Given the description of an element on the screen output the (x, y) to click on. 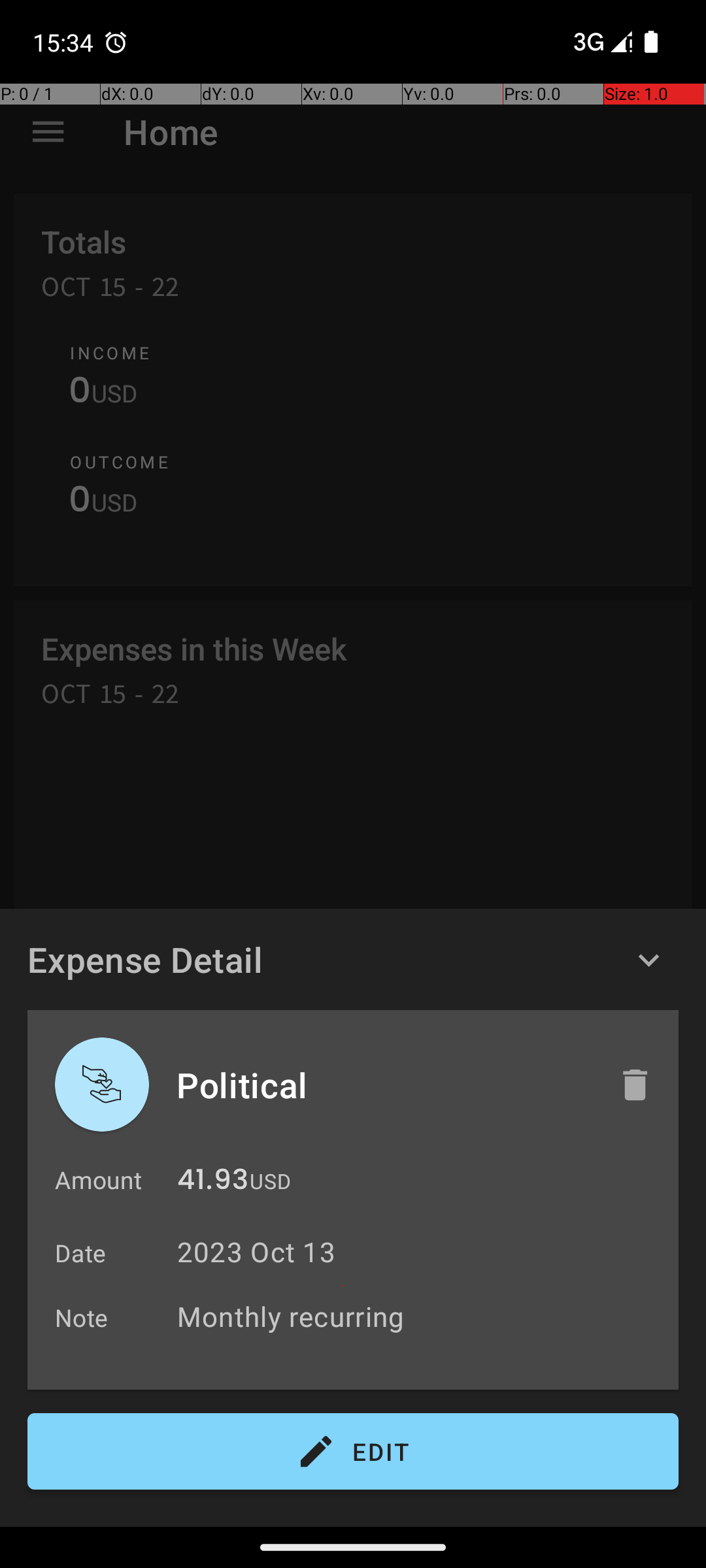
41.93 Element type: android.widget.TextView (212, 1182)
